Given the description of an element on the screen output the (x, y) to click on. 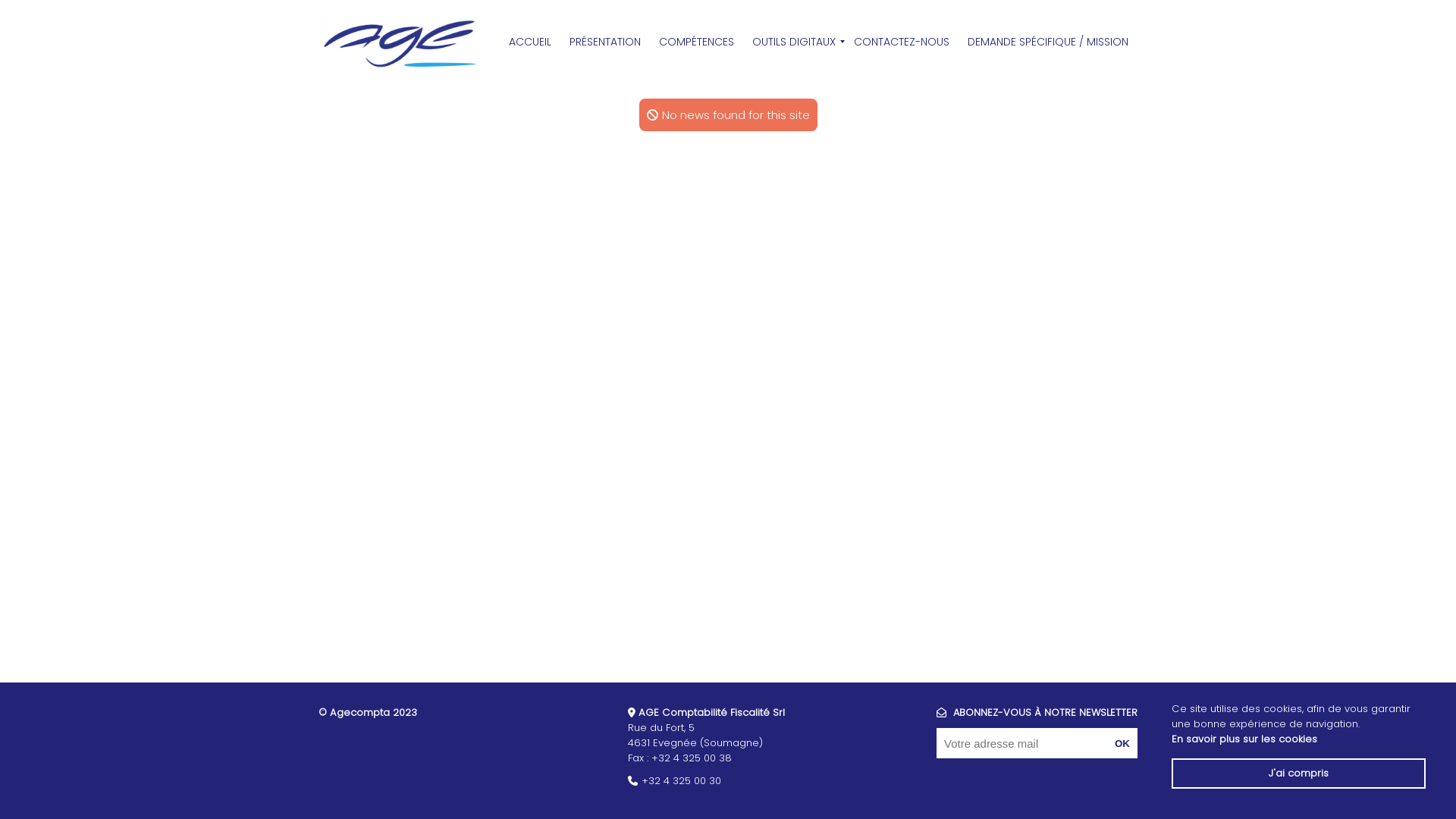
+32 4 325 00 30 Element type: text (681, 780)
OUTILS DIGITAUX Element type: text (793, 41)
CONTACTEZ-NOUS Element type: text (901, 41)
En savoir plus sur les cookies Element type: text (1244, 738)
ACCUEIL Element type: text (529, 41)
OK Element type: text (1122, 743)
Agecompta Element type: hover (398, 41)
